Given the description of an element on the screen output the (x, y) to click on. 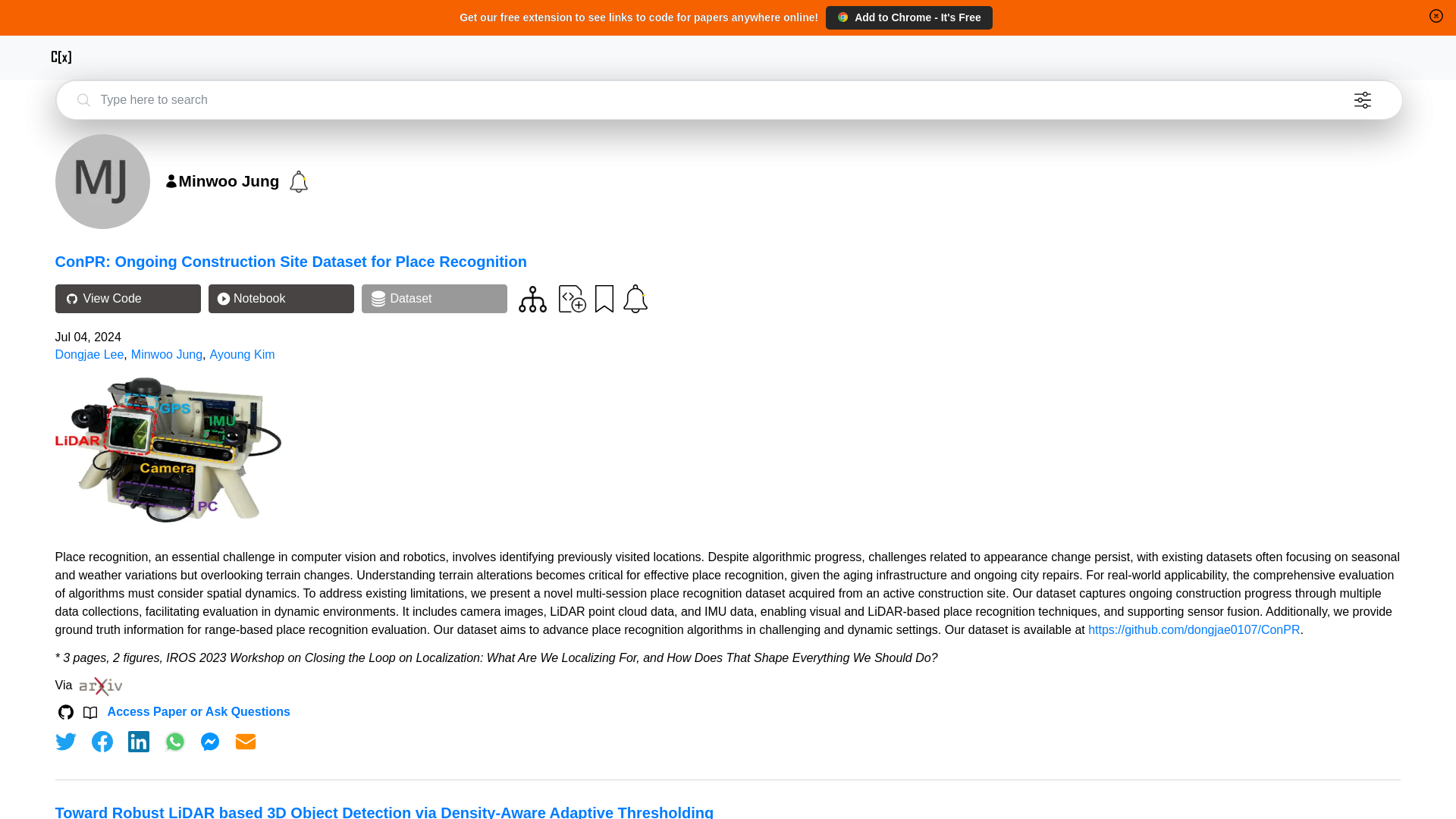
View code for similar papers (532, 298)
View Code (127, 298)
Dataset (433, 298)
Access Paper or Ask Questions (198, 712)
Minwoo Jung (166, 354)
Notebook (280, 298)
Share via Email (245, 741)
Contribute your code for this paper to the community (572, 298)
Ayoung Kim (242, 354)
Add to Chrome - It's Free (908, 17)
Dongjae Lee (89, 354)
